Given the description of an element on the screen output the (x, y) to click on. 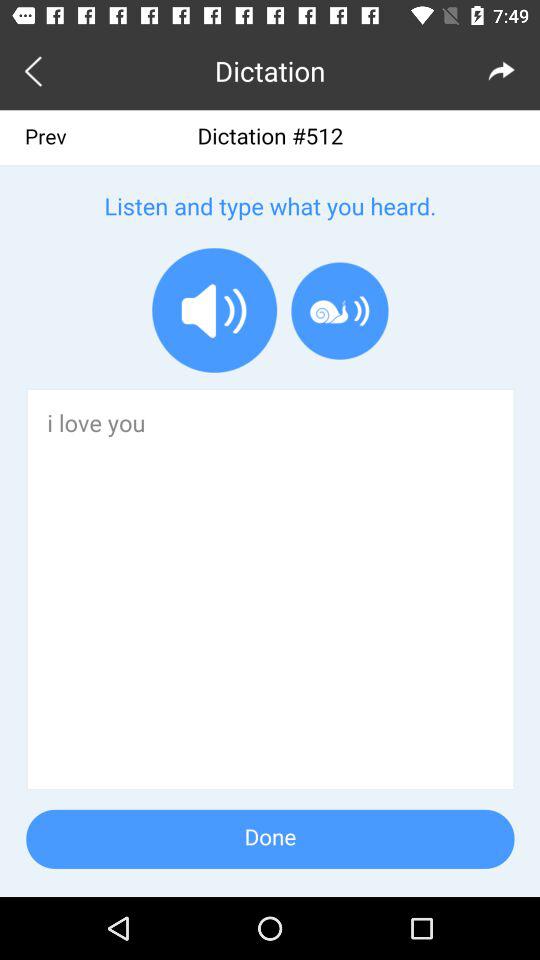
go forward/next (502, 70)
